Given the description of an element on the screen output the (x, y) to click on. 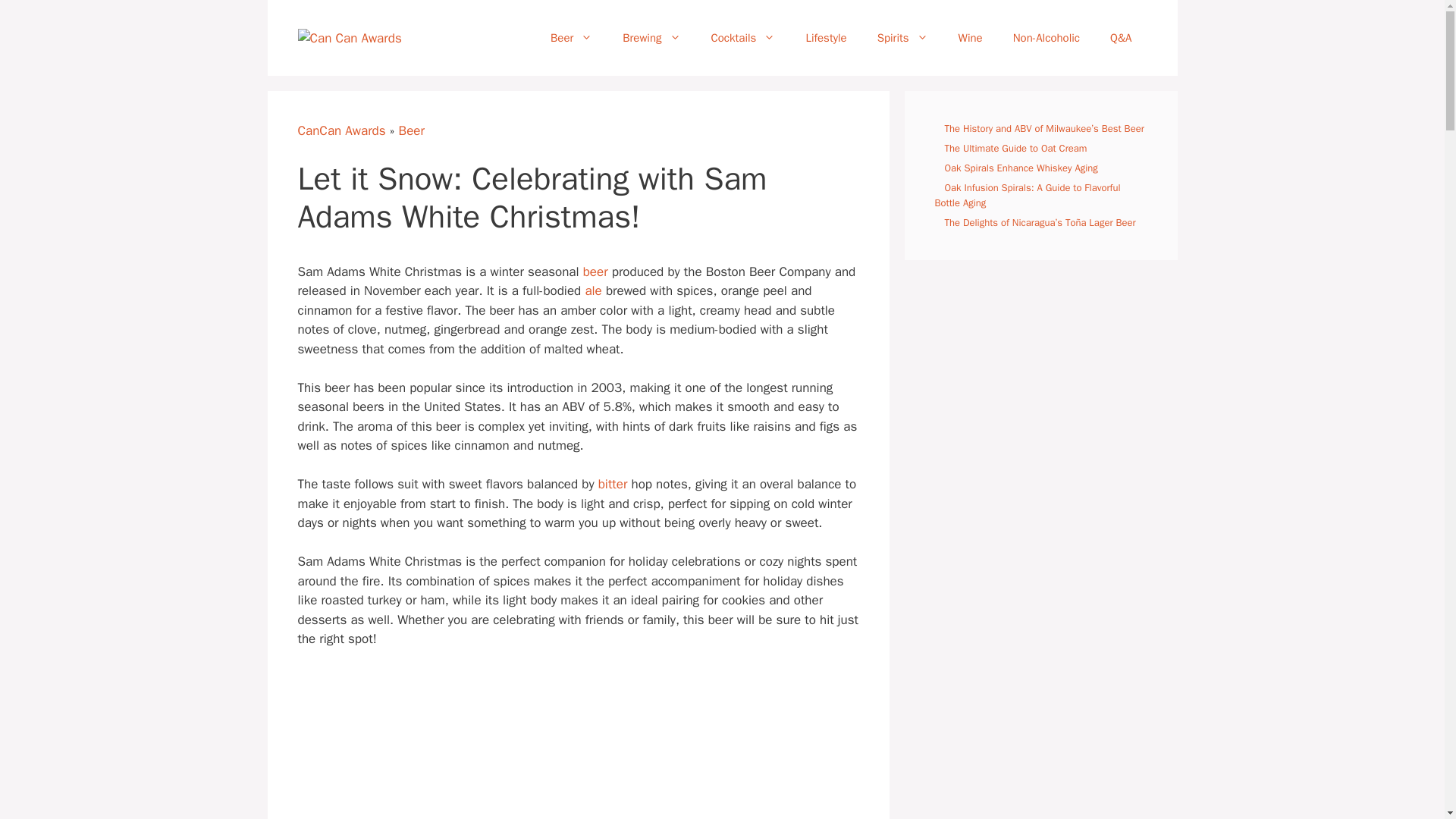
Wine (970, 37)
Brewing (651, 37)
Lifestyle (825, 37)
Non-Alcoholic (1045, 37)
Beer (571, 37)
Let it Snow: Celebrating with Sam Adams White Christmas! 1 (475, 743)
Spirits (902, 37)
Cocktails (742, 37)
